Given the description of an element on the screen output the (x, y) to click on. 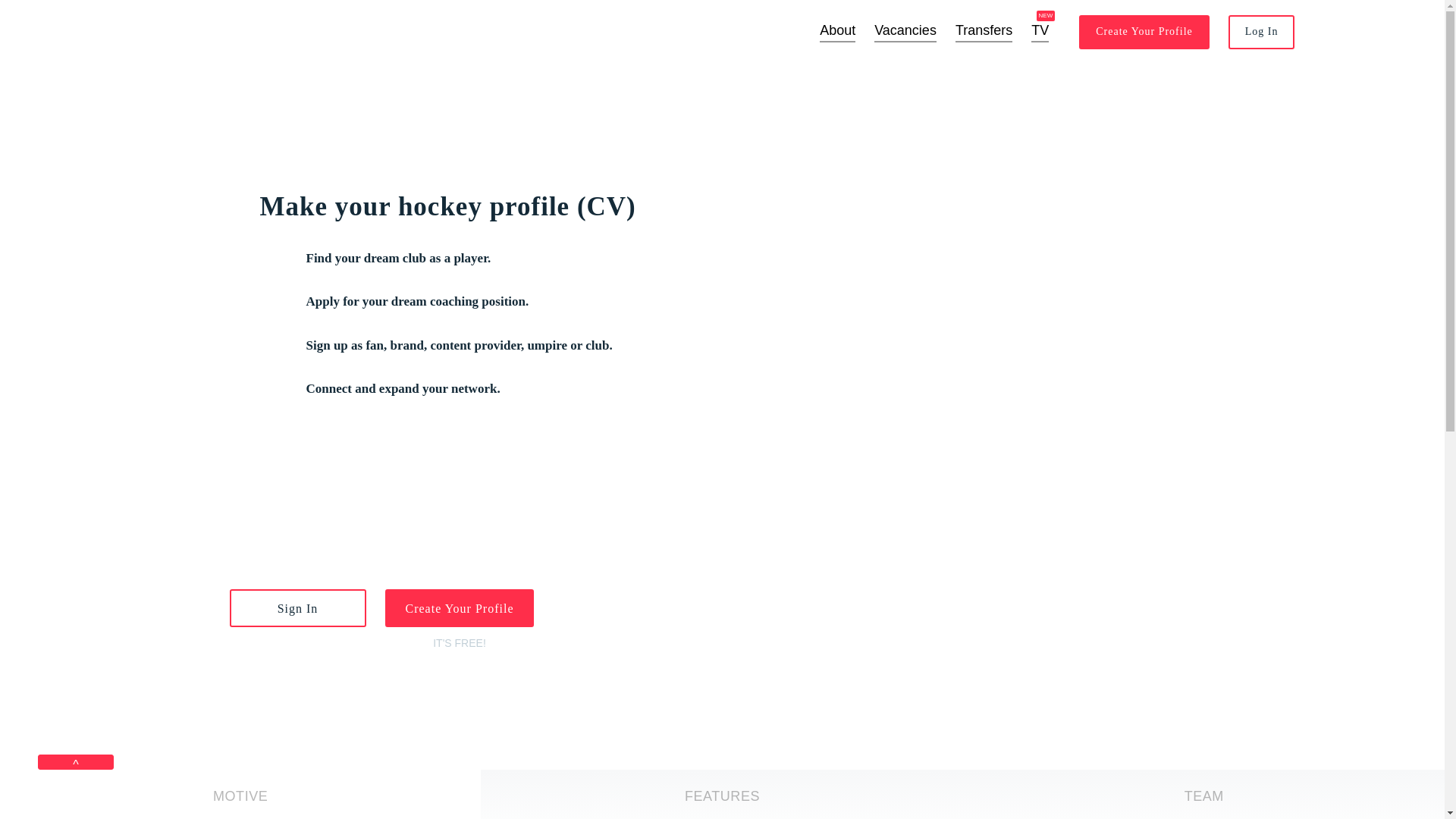
Transfers (983, 29)
About (837, 29)
TEAM (1204, 795)
FEATURES (721, 794)
Log In (1261, 32)
About (837, 29)
Sign In (296, 607)
Vacancies (905, 29)
Why (239, 795)
What (722, 795)
